Given the description of an element on the screen output the (x, y) to click on. 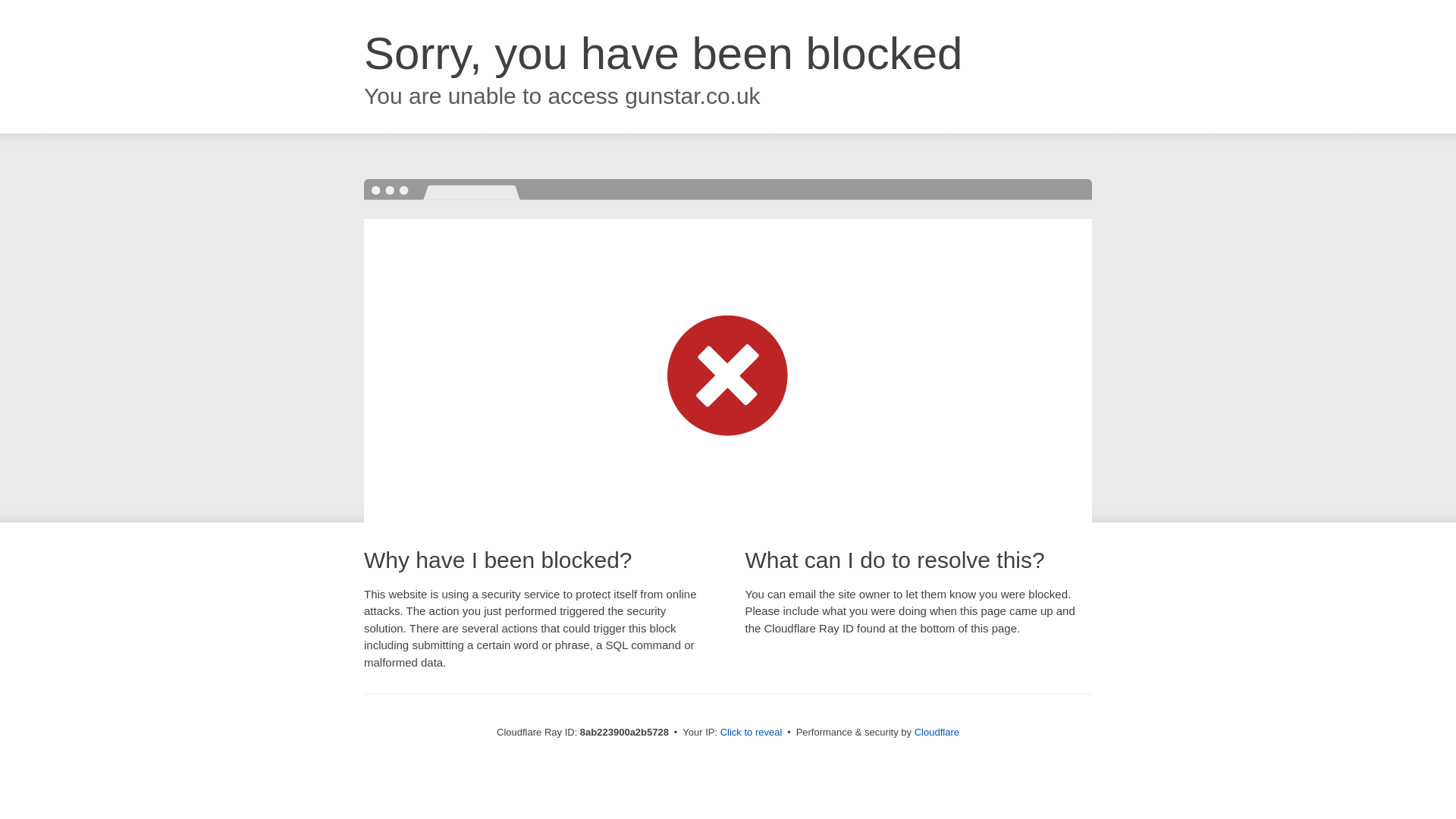
Cloudflare (936, 731)
Click to reveal (751, 732)
